Given the description of an element on the screen output the (x, y) to click on. 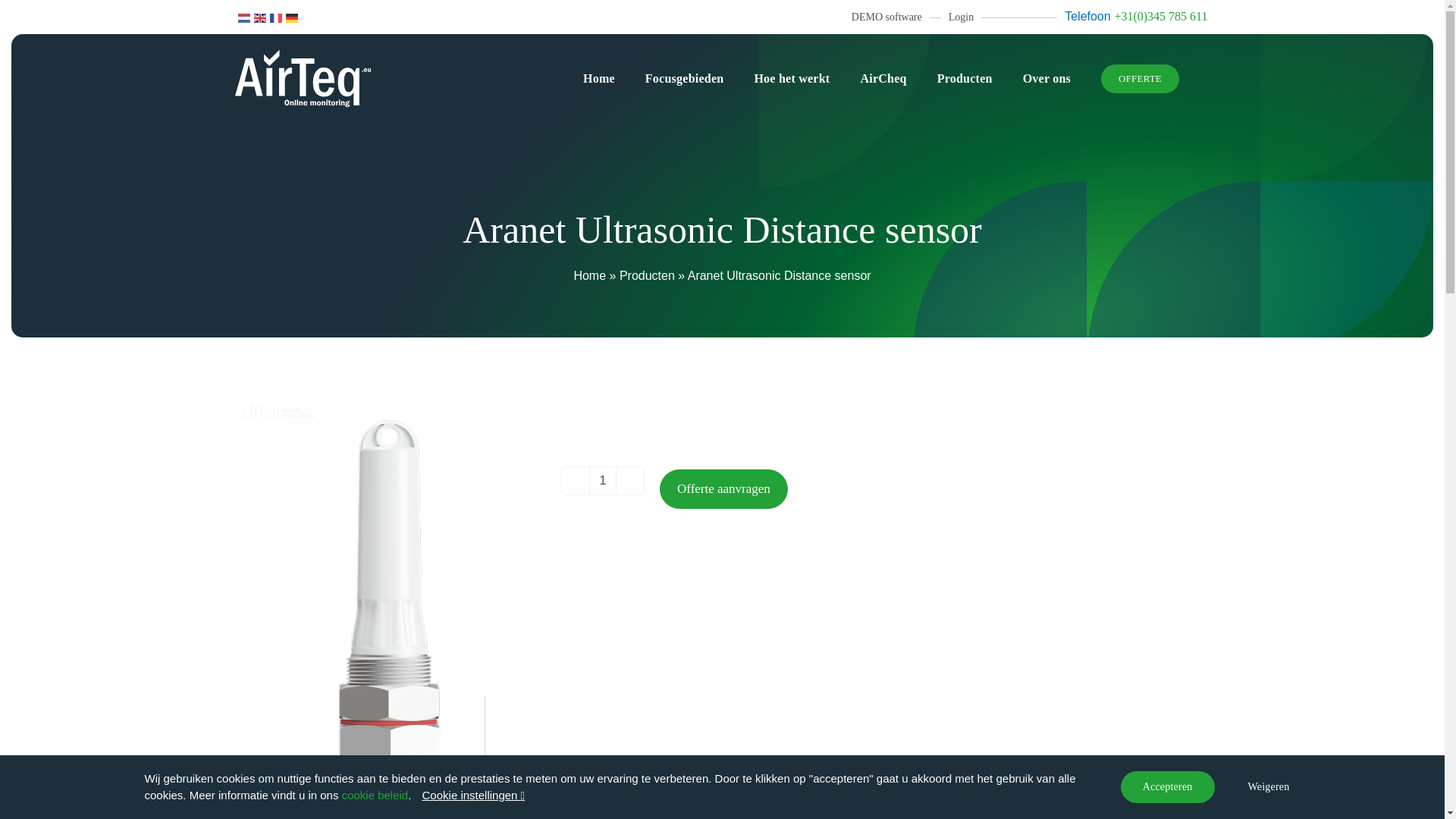
Login (961, 16)
German (293, 16)
DEMO software (886, 16)
English (261, 16)
Dutch (243, 16)
French (275, 16)
1 (602, 480)
